Given the description of an element on the screen output the (x, y) to click on. 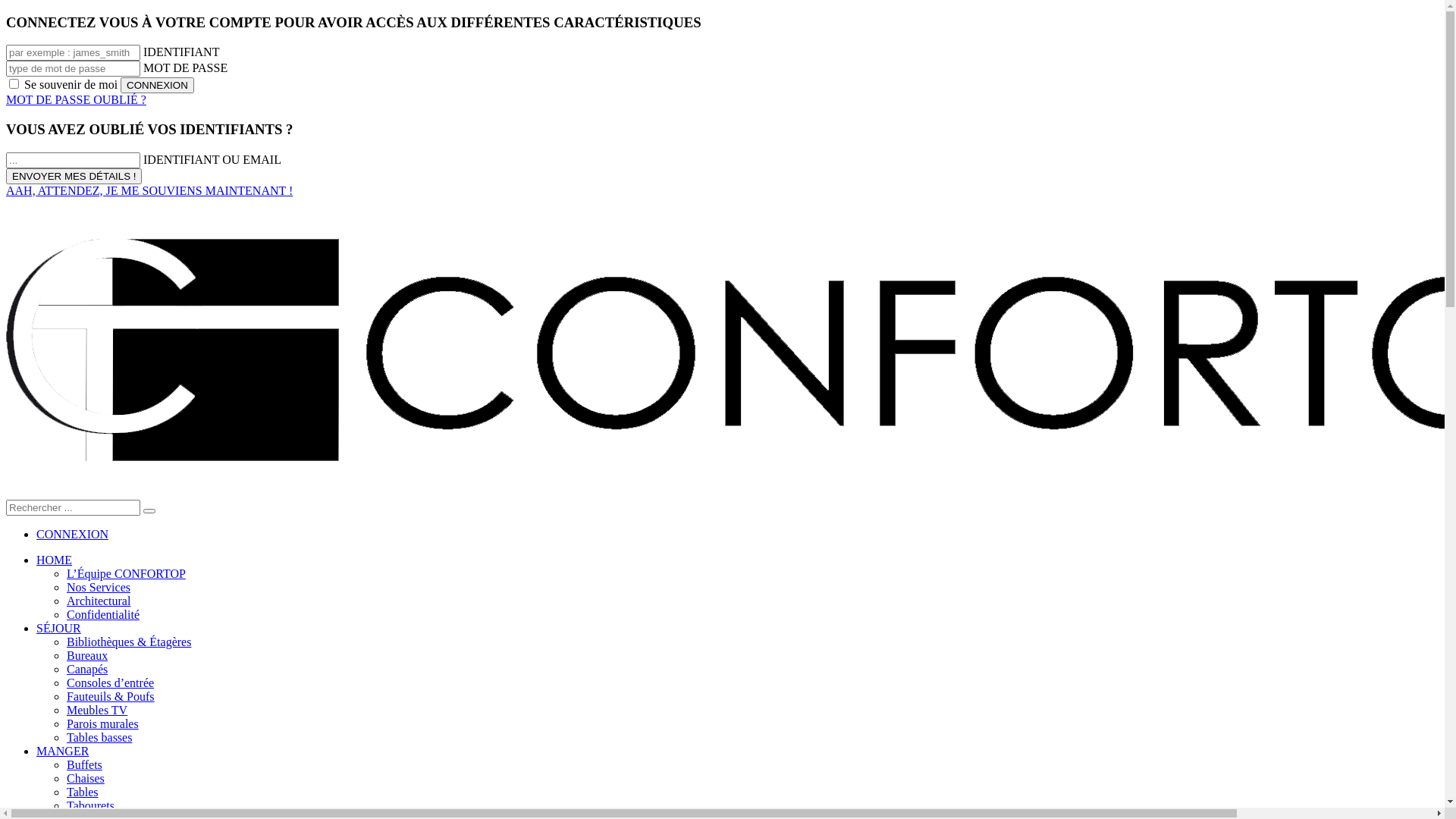
Tables Element type: text (82, 791)
go Element type: text (149, 510)
Bureaux Element type: text (86, 655)
Tabourets Element type: text (90, 805)
HOME Element type: text (54, 559)
MANGER Element type: text (62, 750)
CONNEXION Element type: text (72, 533)
Buffets Element type: text (84, 764)
Fauteuils & Poufs Element type: text (110, 696)
Meubles TV Element type: text (96, 709)
Tables basses Element type: text (98, 737)
Chaises Element type: text (85, 777)
AAH, ATTENDEZ, JE ME SOUVIENS MAINTENANT ! Element type: text (149, 190)
Architectural Element type: text (98, 600)
Parois murales Element type: text (102, 723)
CONNEXION Element type: text (157, 85)
Nos Services Element type: text (98, 586)
